Given the description of an element on the screen output the (x, y) to click on. 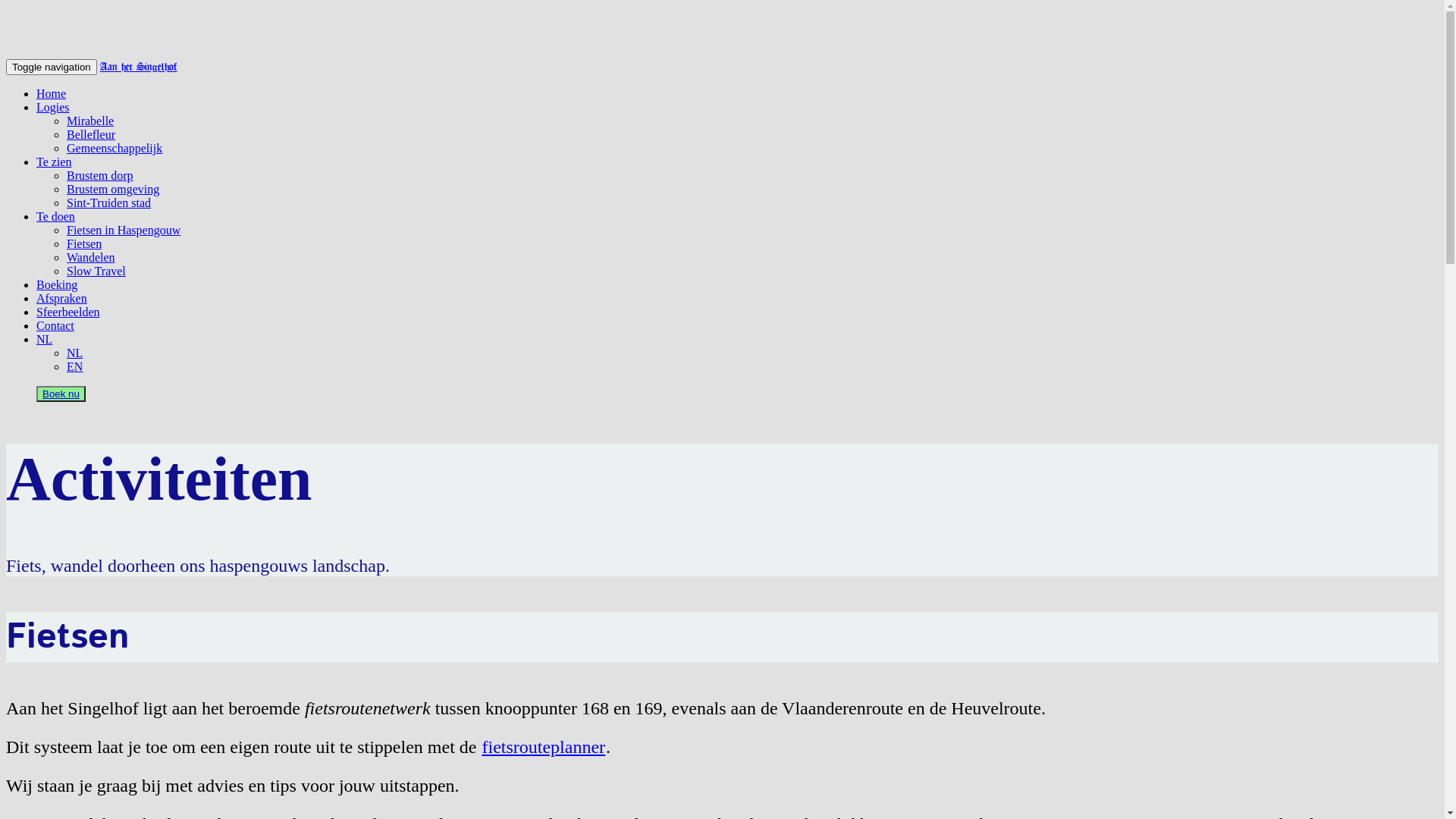
NL Element type: text (44, 338)
Slow Travel Element type: text (95, 270)
Bellefleur Element type: text (90, 134)
Home Element type: text (50, 93)
Logies Element type: text (52, 106)
Wandelen Element type: text (90, 257)
Gemeenschappelijk Element type: text (114, 147)
Fietsen Element type: text (83, 243)
EN Element type: text (74, 366)
Te doen Element type: text (55, 216)
Afspraken Element type: text (61, 297)
Sfeerbeelden Element type: text (68, 311)
Aan het Singelhof Element type: text (138, 67)
Brustem omgeving Element type: text (112, 188)
Boeking Element type: text (56, 284)
Boek nu Element type: text (60, 393)
fietsrouteplanner Element type: text (543, 746)
Mirabelle Element type: text (89, 120)
Brustem dorp Element type: text (99, 175)
Sint-Truiden stad Element type: text (108, 202)
Toggle navigation Element type: text (51, 67)
Fietsen in Haspengouw Element type: text (123, 229)
Te zien Element type: text (53, 161)
Boek nu Element type: text (60, 393)
Contact Element type: text (55, 325)
NL Element type: text (74, 352)
